Given the description of an element on the screen output the (x, y) to click on. 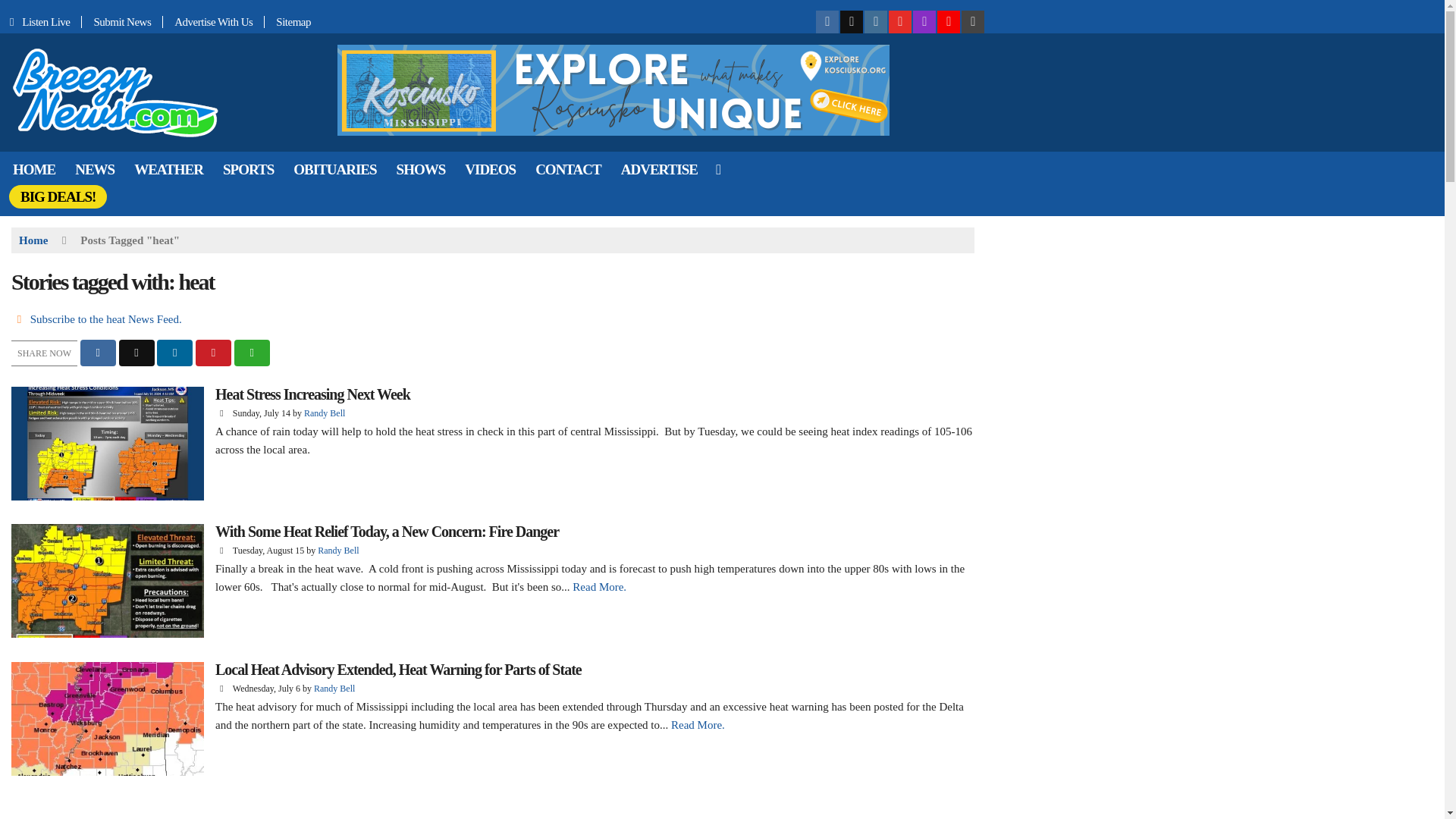
Get our iOS App (972, 21)
Follow us on Facebook (826, 21)
Advertise With Us (213, 21)
Follow our Podcast (924, 21)
Sitemap (287, 21)
Follow us on Youtube (899, 21)
Follow us on Instagram (875, 21)
Follow us on X (851, 21)
Follow us on Soundcloud (948, 21)
Submit News (122, 21)
Listen Live (40, 21)
